Given the description of an element on the screen output the (x, y) to click on. 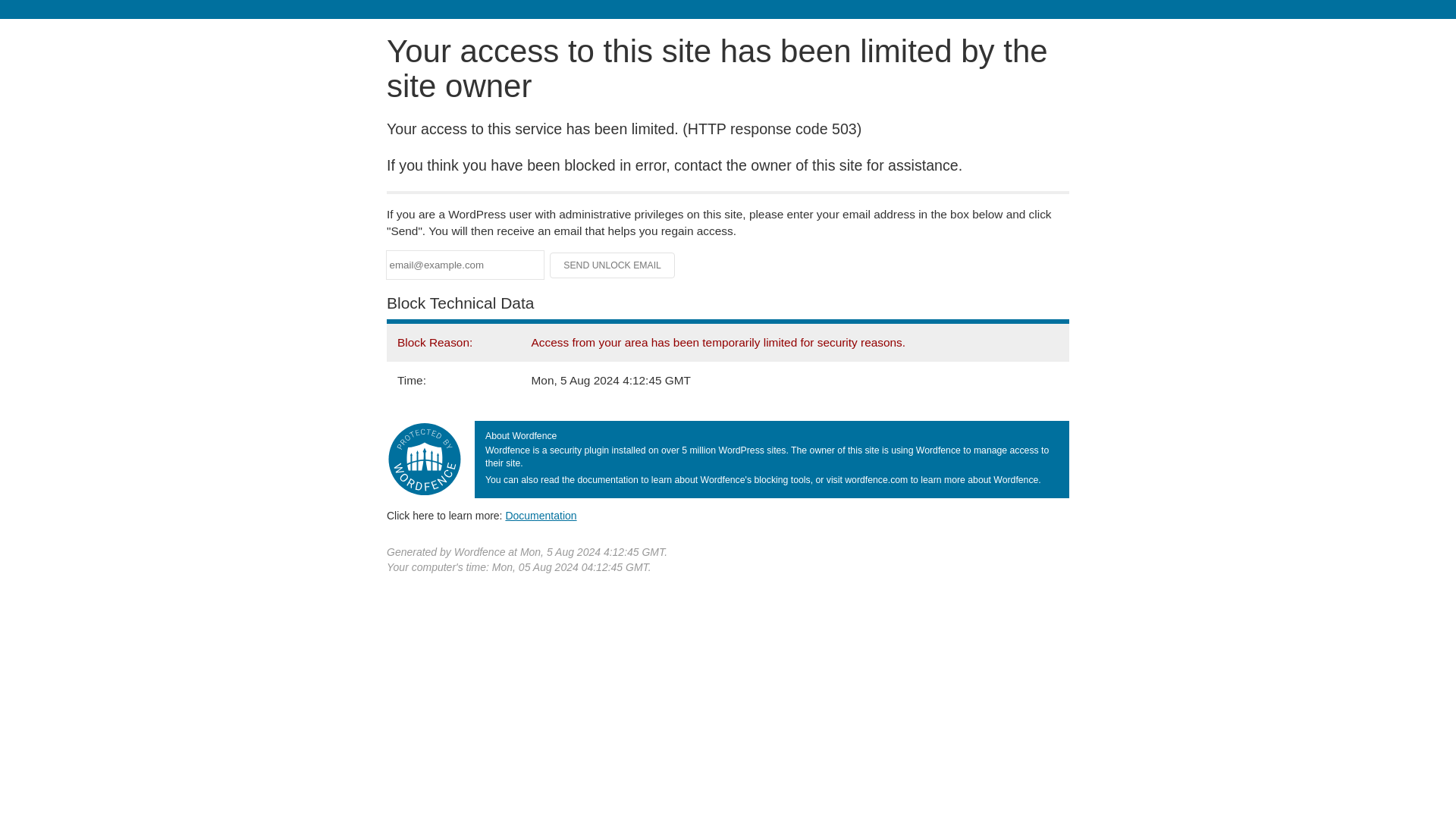
Documentation (540, 515)
Send Unlock Email (612, 265)
Send Unlock Email (612, 265)
